Given the description of an element on the screen output the (x, y) to click on. 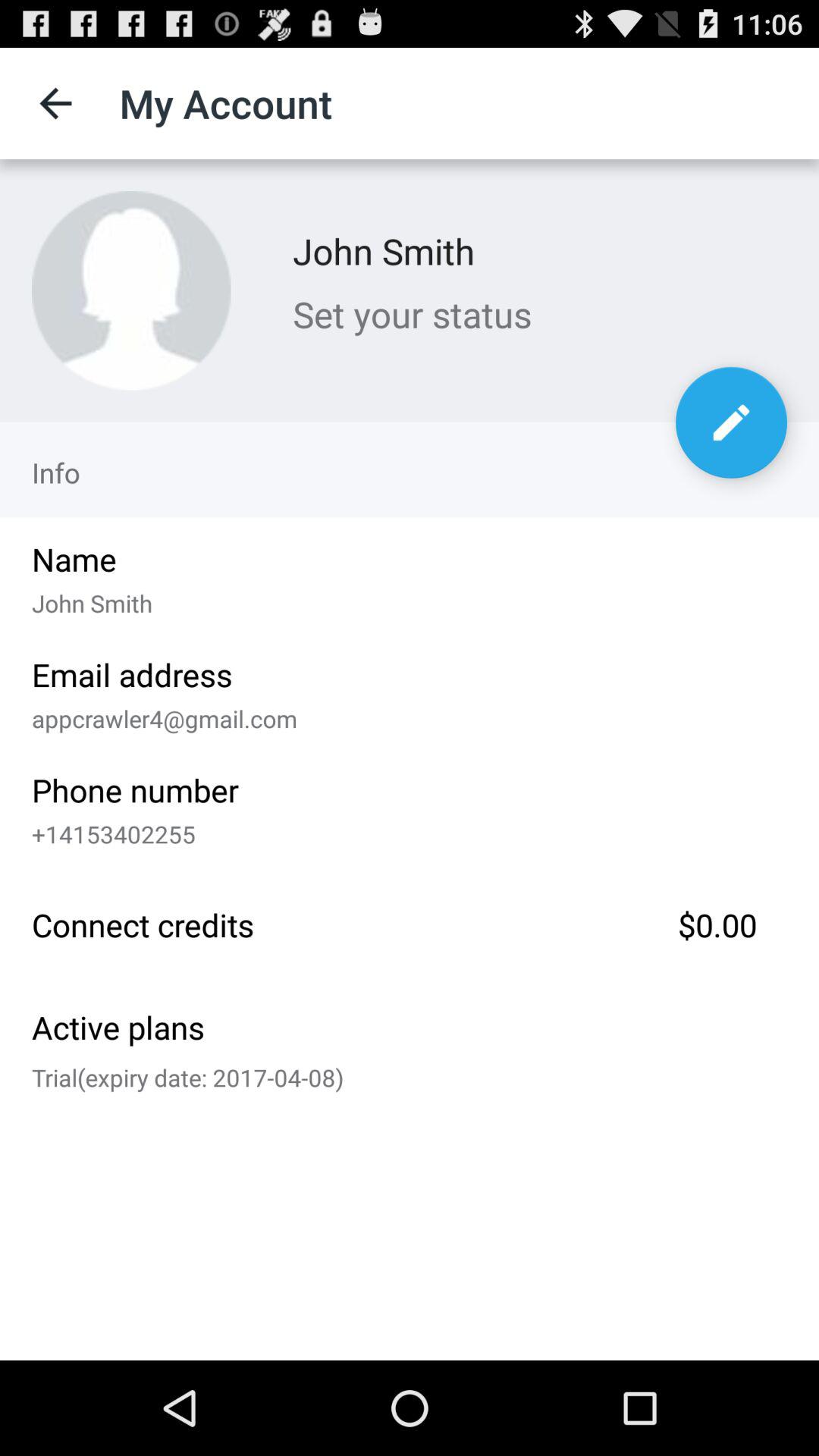
view image (130, 290)
